Given the description of an element on the screen output the (x, y) to click on. 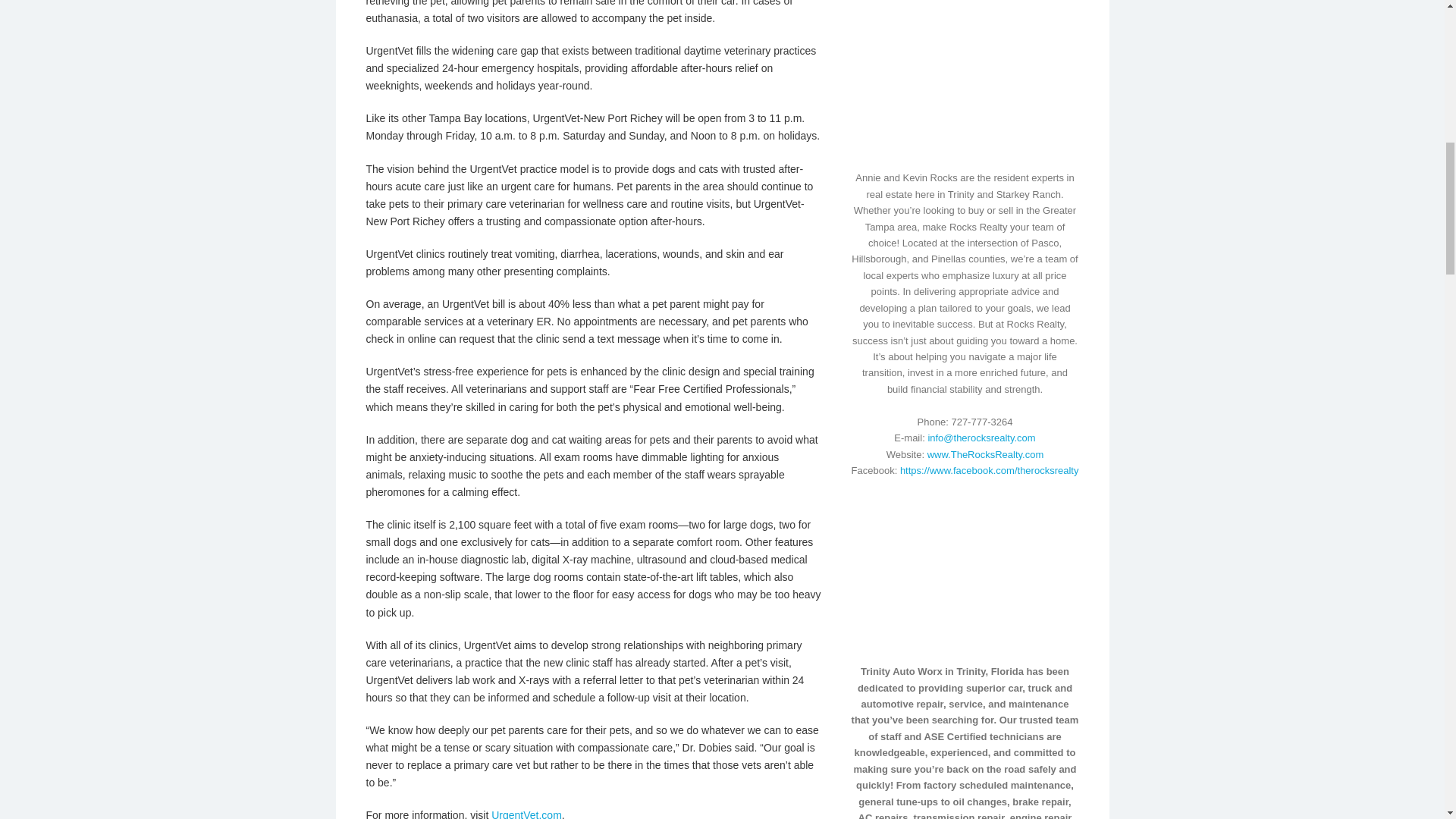
UrgentVet.com (527, 814)
